Given the description of an element on the screen output the (x, y) to click on. 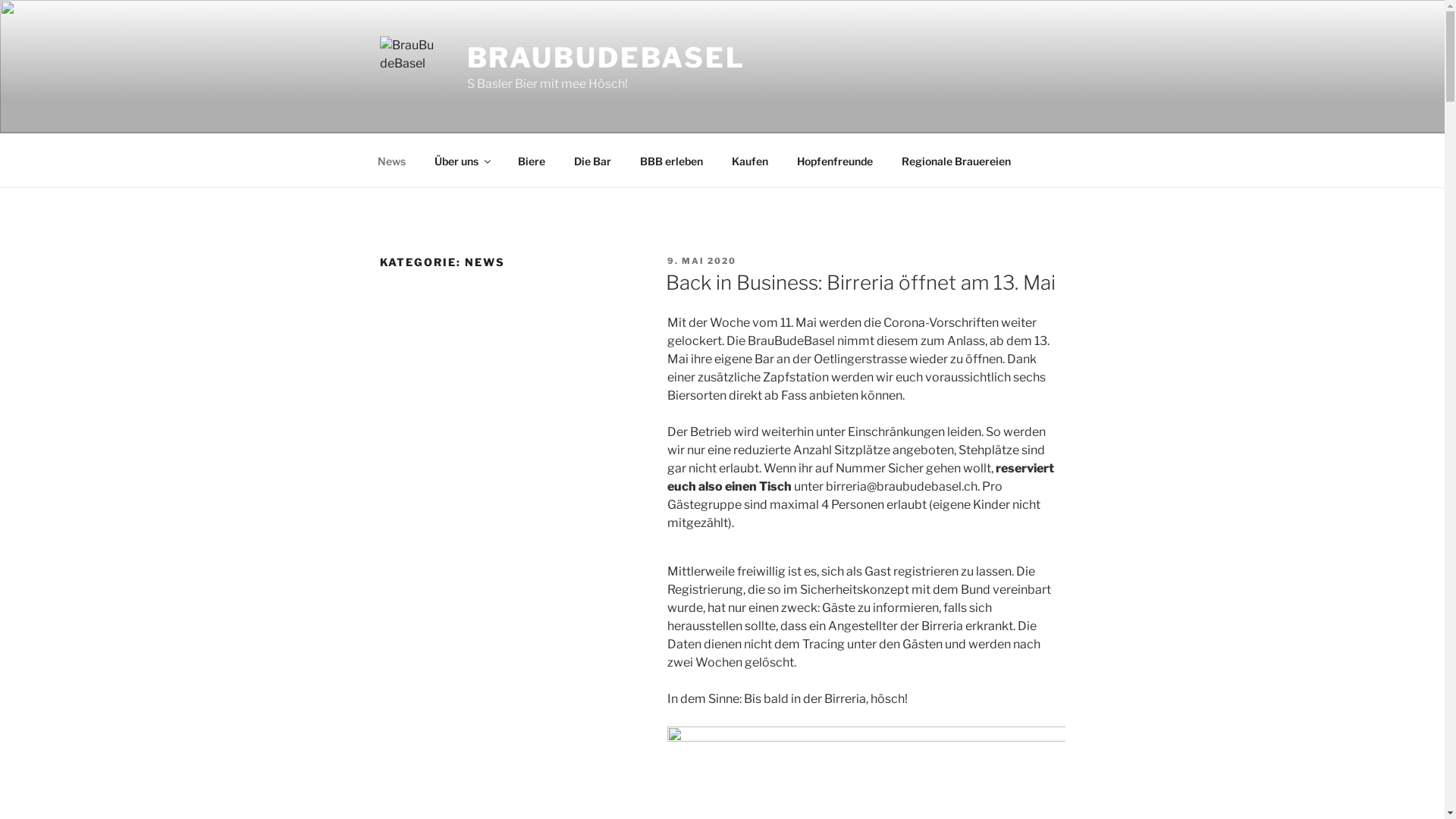
9. MAI 2020 Element type: text (701, 260)
Hopfenfreunde Element type: text (835, 160)
Die Bar Element type: text (592, 160)
BRAUBUDEBASEL Element type: text (606, 57)
BBB erleben Element type: text (670, 160)
Biere Element type: text (531, 160)
Regionale Brauereien Element type: text (956, 160)
News Element type: text (391, 160)
Kaufen Element type: text (749, 160)
